Given the description of an element on the screen output the (x, y) to click on. 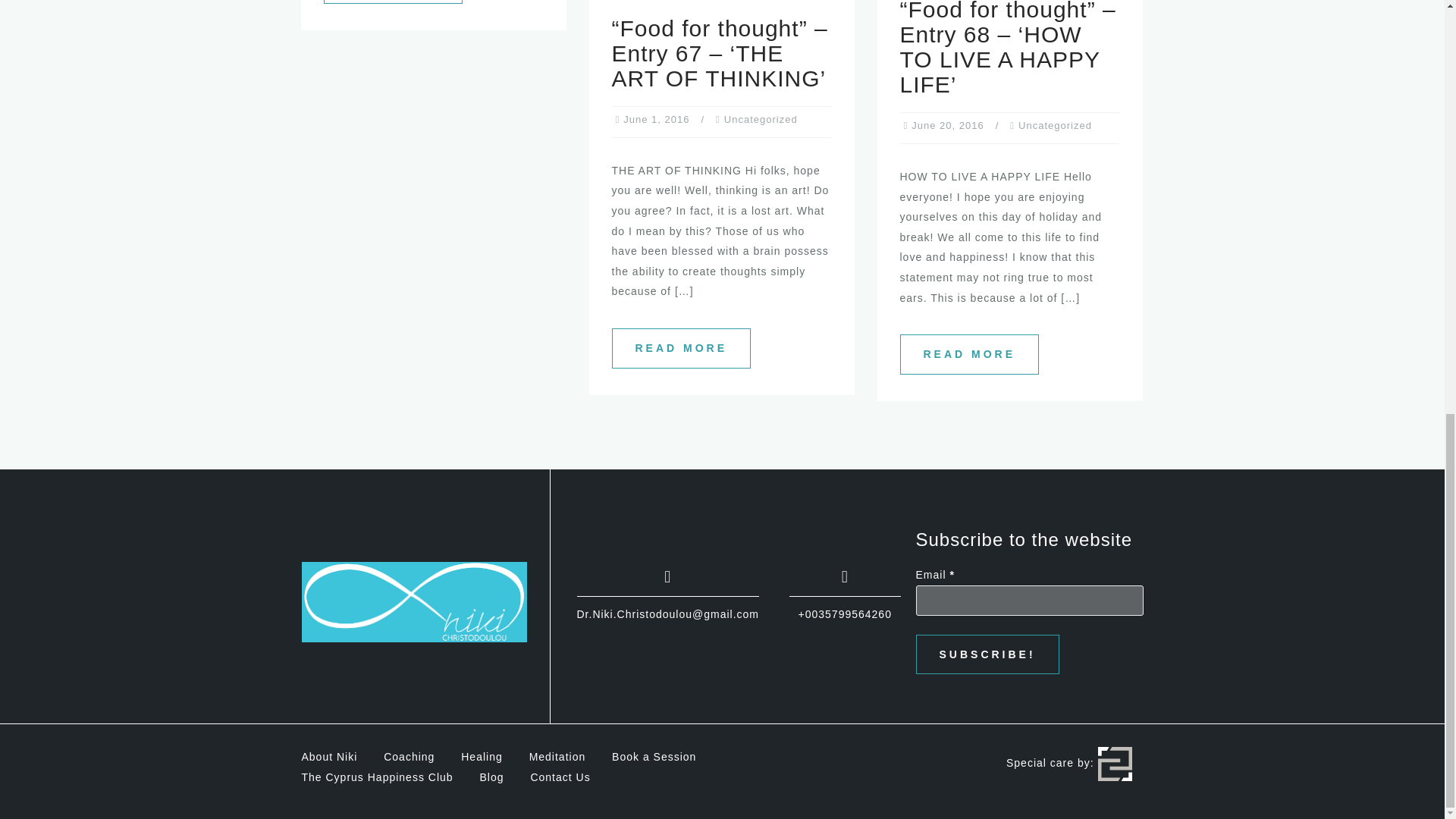
READ MORE (393, 2)
Subscribe! (987, 654)
Online webinar (393, 2)
